Given the description of an element on the screen output the (x, y) to click on. 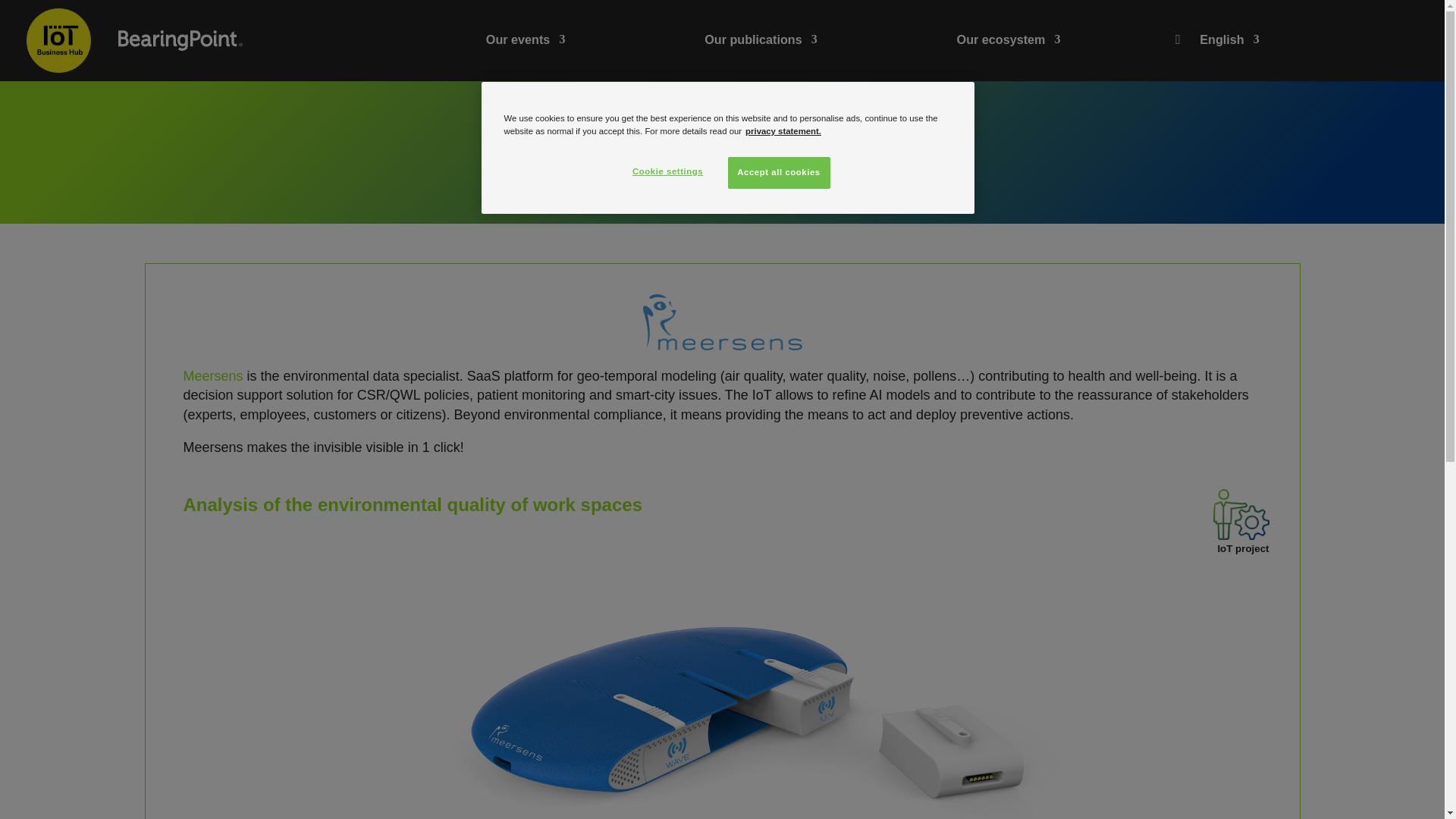
Our ecosystem (1008, 39)
Our publications (760, 39)
Our events (526, 39)
English (1229, 39)
English (1229, 39)
